Given the description of an element on the screen output the (x, y) to click on. 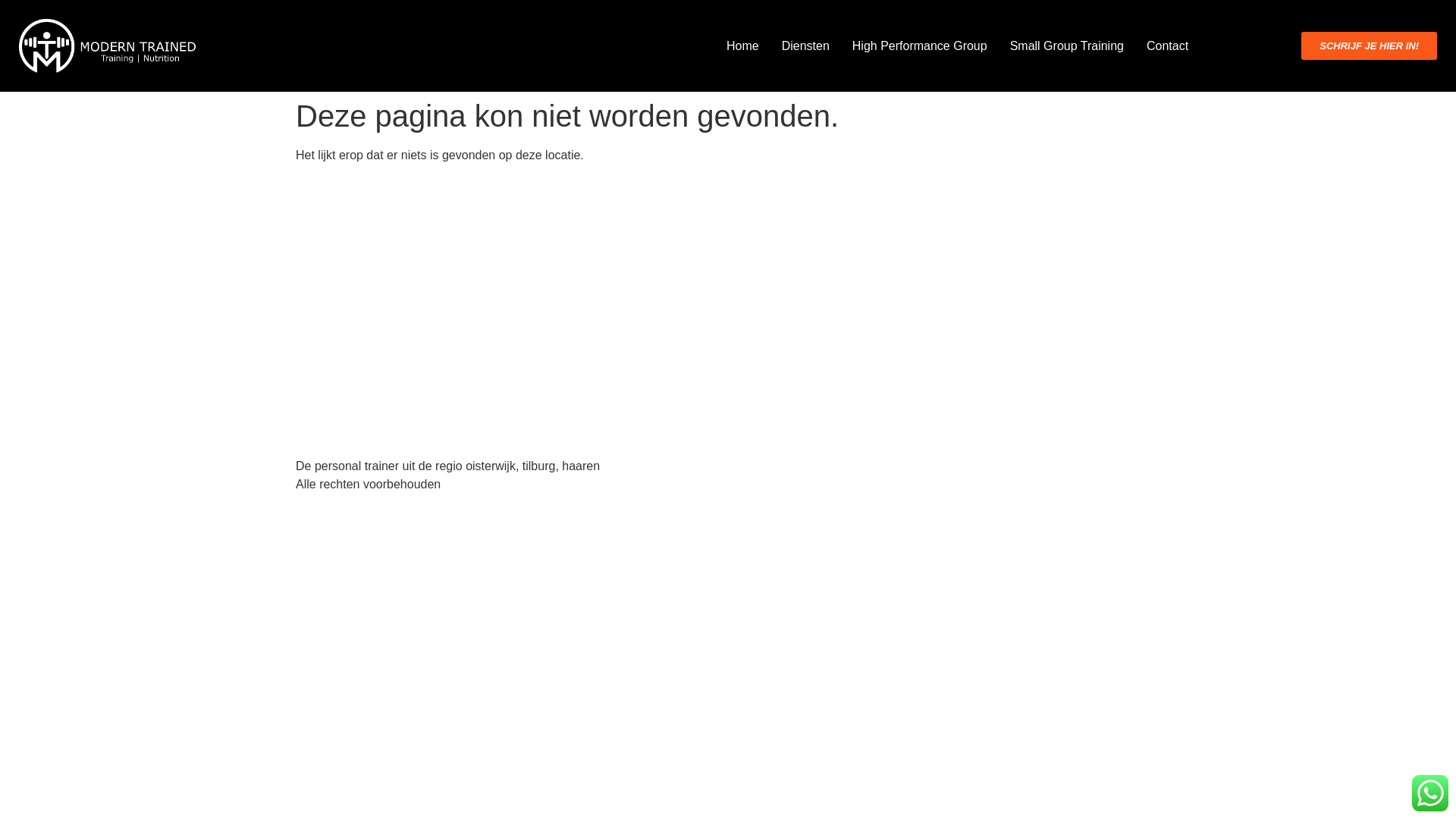
SCHRIJF JE HIER IN! (1369, 45)
Diensten (805, 45)
Small Group Training (1067, 45)
High Performance Group (919, 45)
Contact (1166, 45)
Home (743, 45)
